Given the description of an element on the screen output the (x, y) to click on. 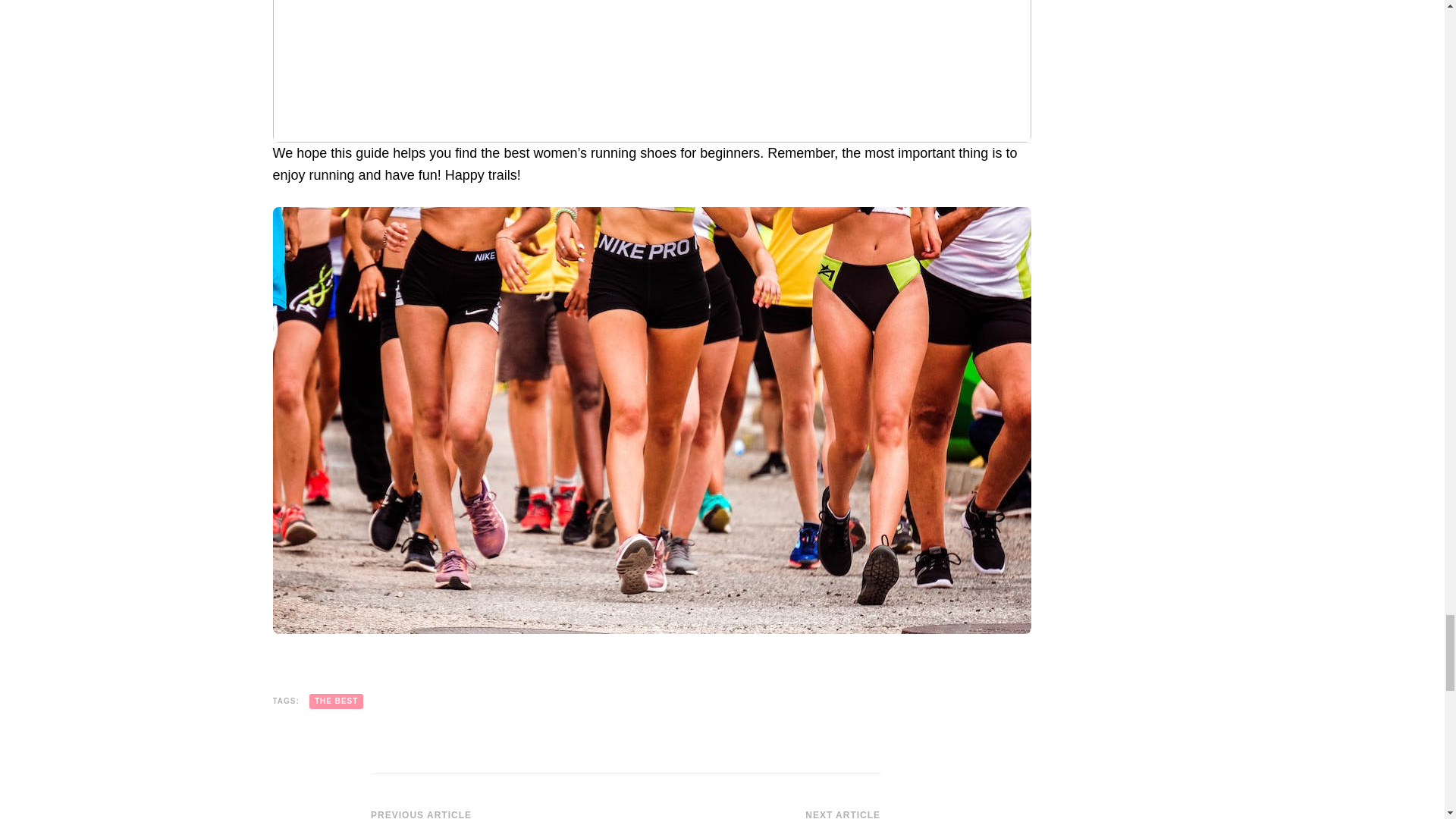
THE BEST (335, 701)
